Given the description of an element on the screen output the (x, y) to click on. 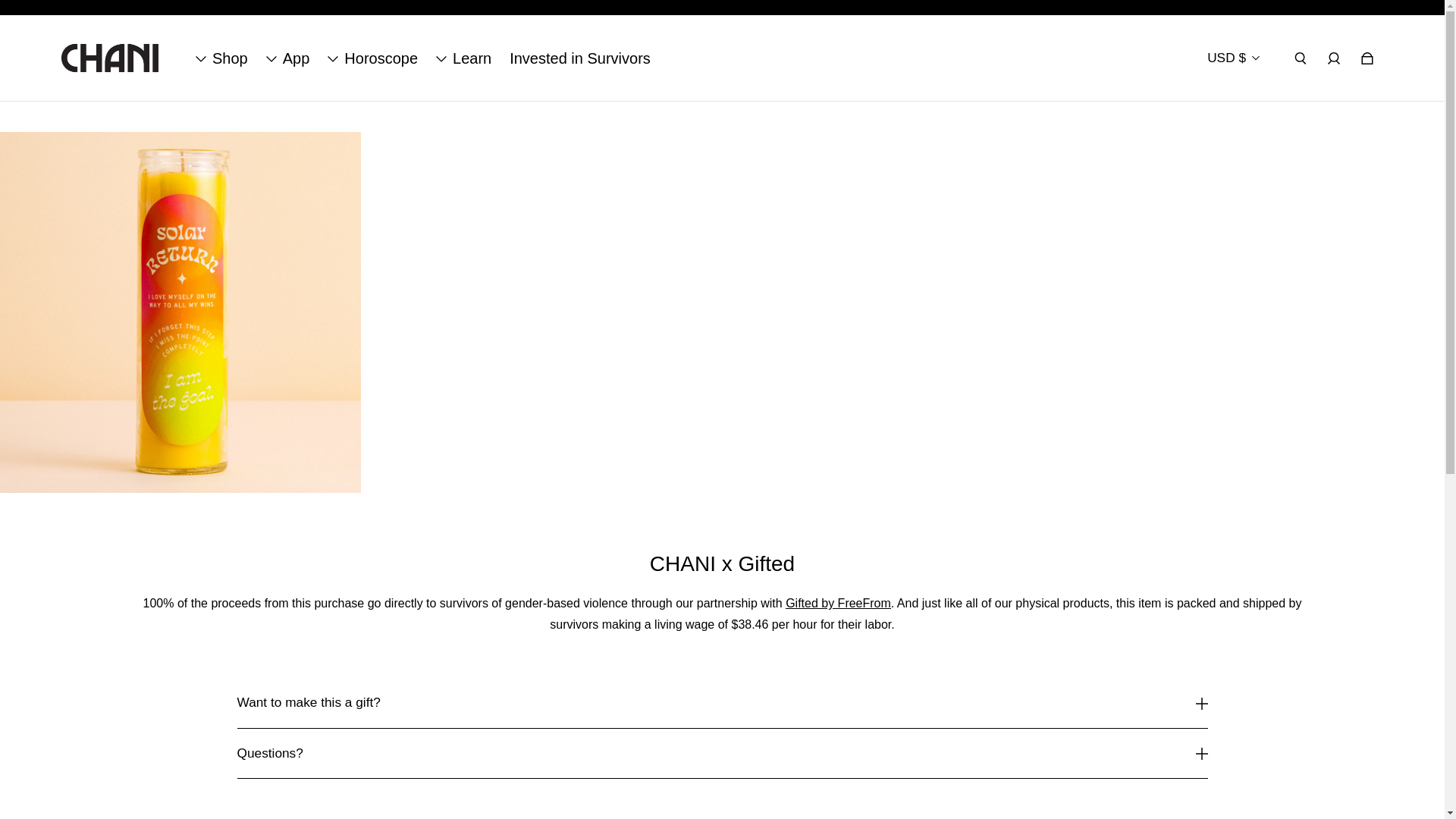
Invested in Survivors (579, 57)
